Given the description of an element on the screen output the (x, y) to click on. 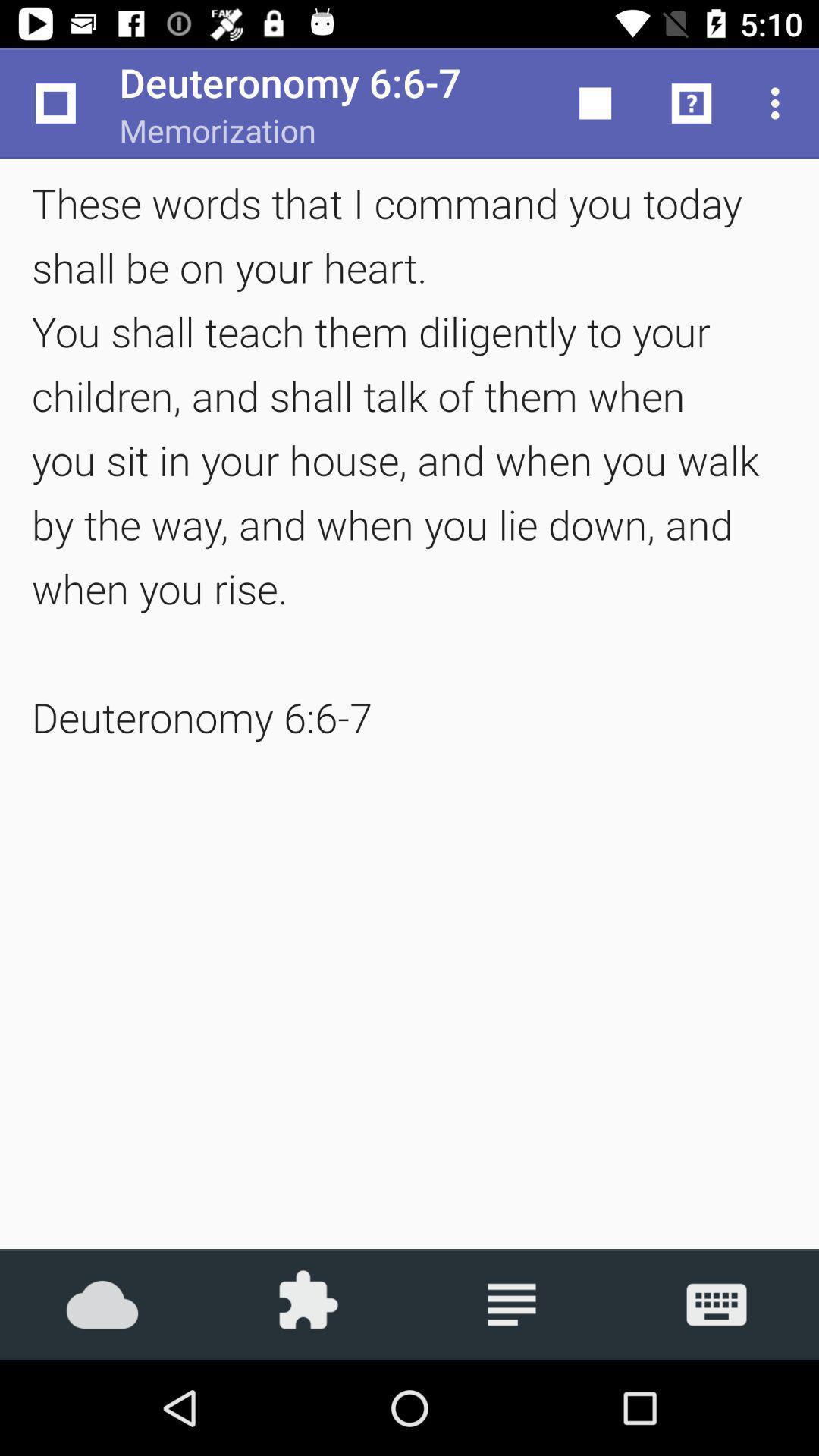
press the icon above these words that item (55, 103)
